Given the description of an element on the screen output the (x, y) to click on. 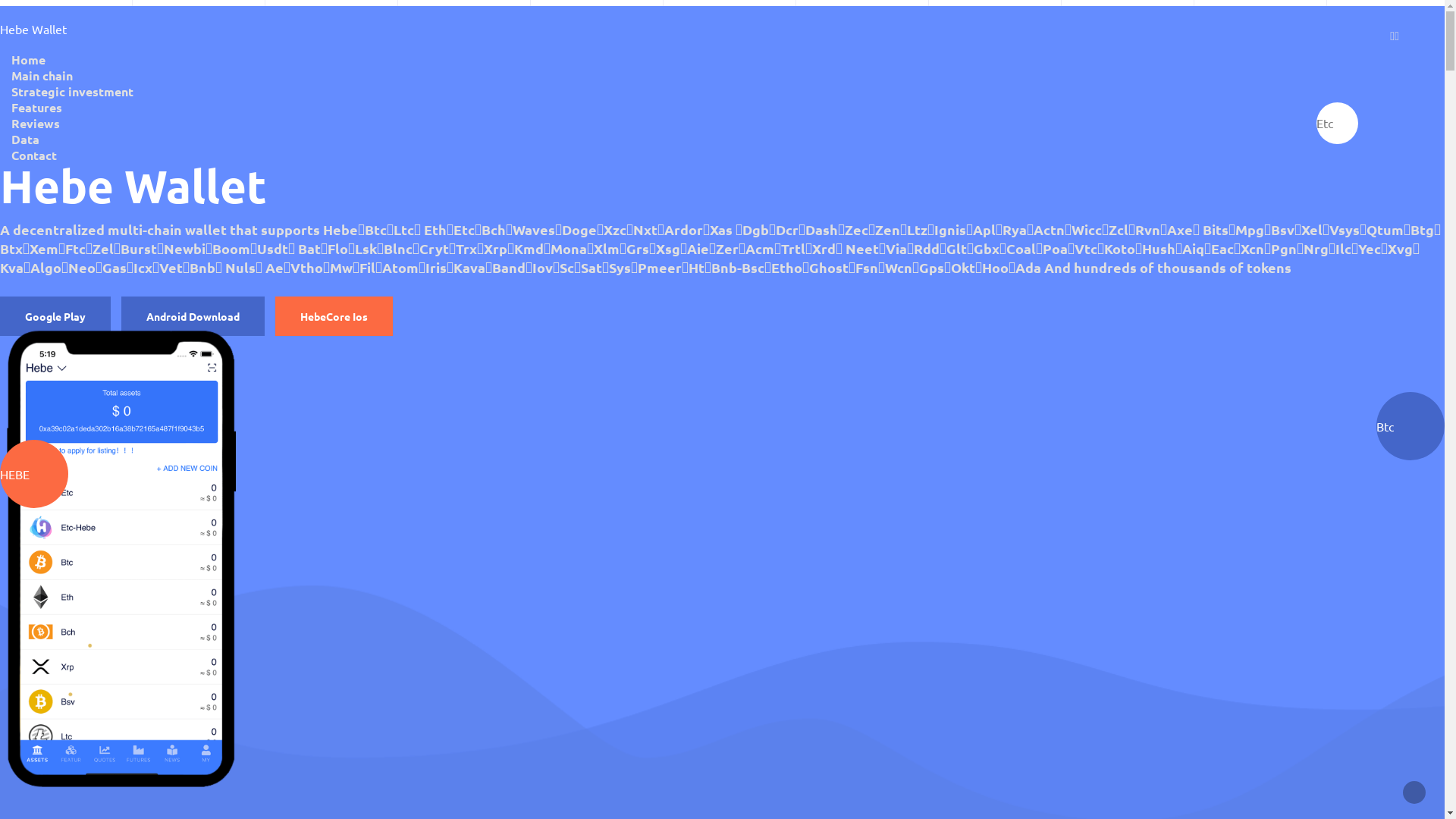
Google Play Element type: text (55, 315)
Features Element type: text (36, 107)
Main chain Element type: text (42, 75)
Android Download Element type: text (192, 315)
Contact Element type: text (34, 154)
Data Element type: text (25, 138)
Reviews Element type: text (35, 122)
Home Element type: text (28, 59)
HebeCore Ios Element type: text (333, 315)
Strategic investment Element type: text (72, 91)
